Given the description of an element on the screen output the (x, y) to click on. 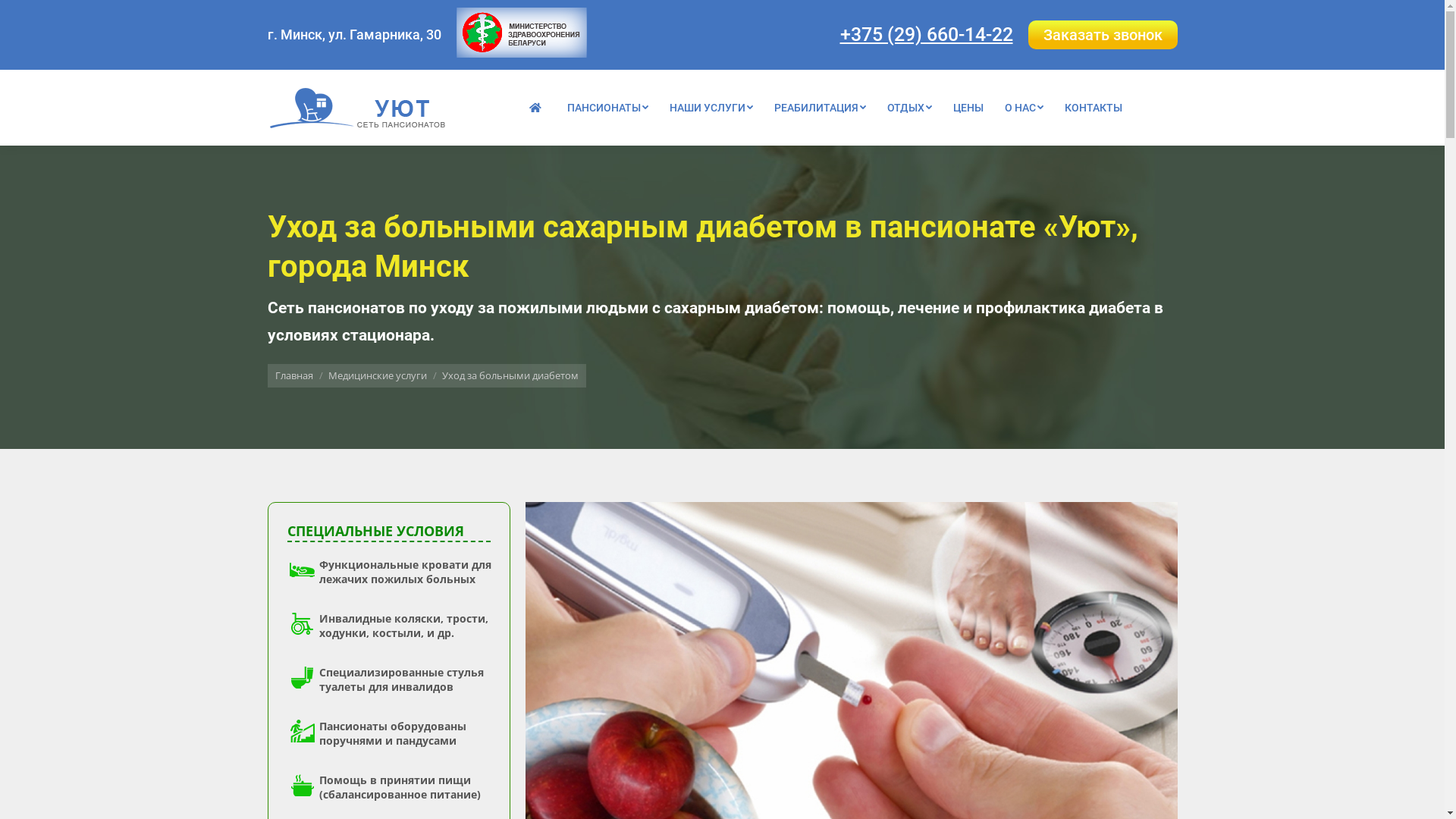
+375 (29) 660-14-22 Element type: text (926, 33)
